Given the description of an element on the screen output the (x, y) to click on. 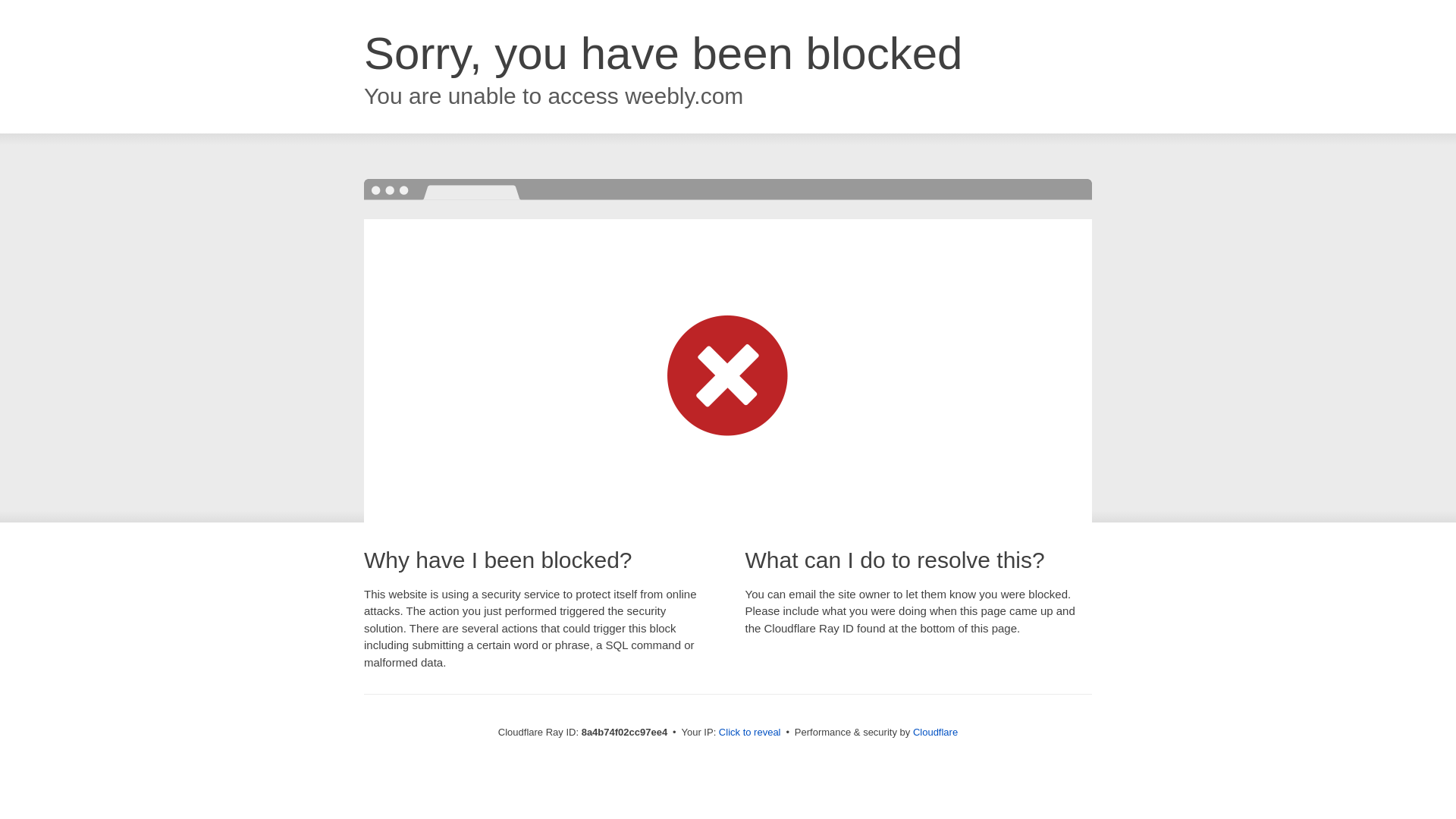
Click to reveal (749, 732)
Cloudflare (935, 731)
